Given the description of an element on the screen output the (x, y) to click on. 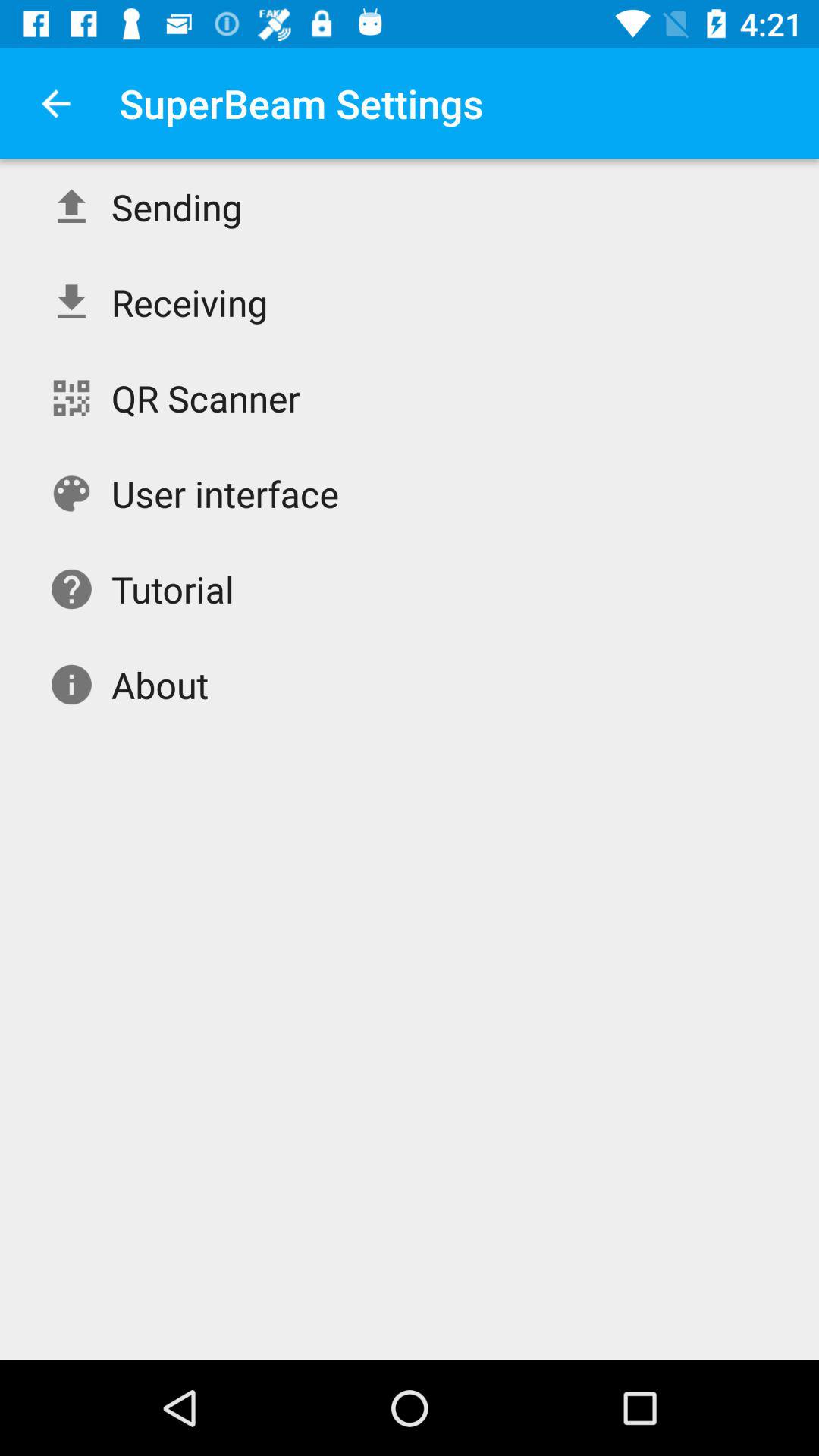
select app below qr scanner icon (224, 493)
